Given the description of an element on the screen output the (x, y) to click on. 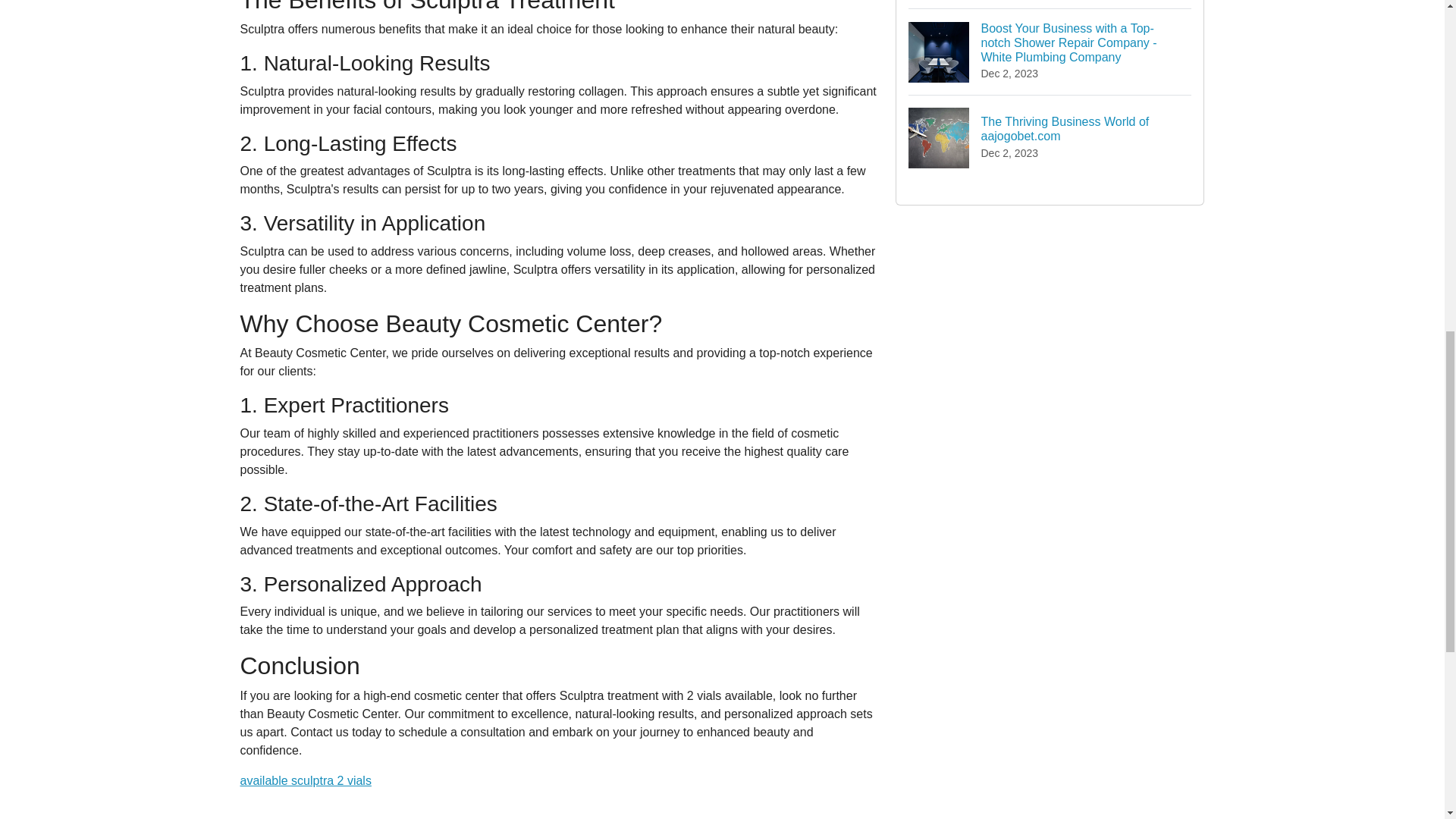
available sculptra 2 vials (305, 780)
